Given the description of an element on the screen output the (x, y) to click on. 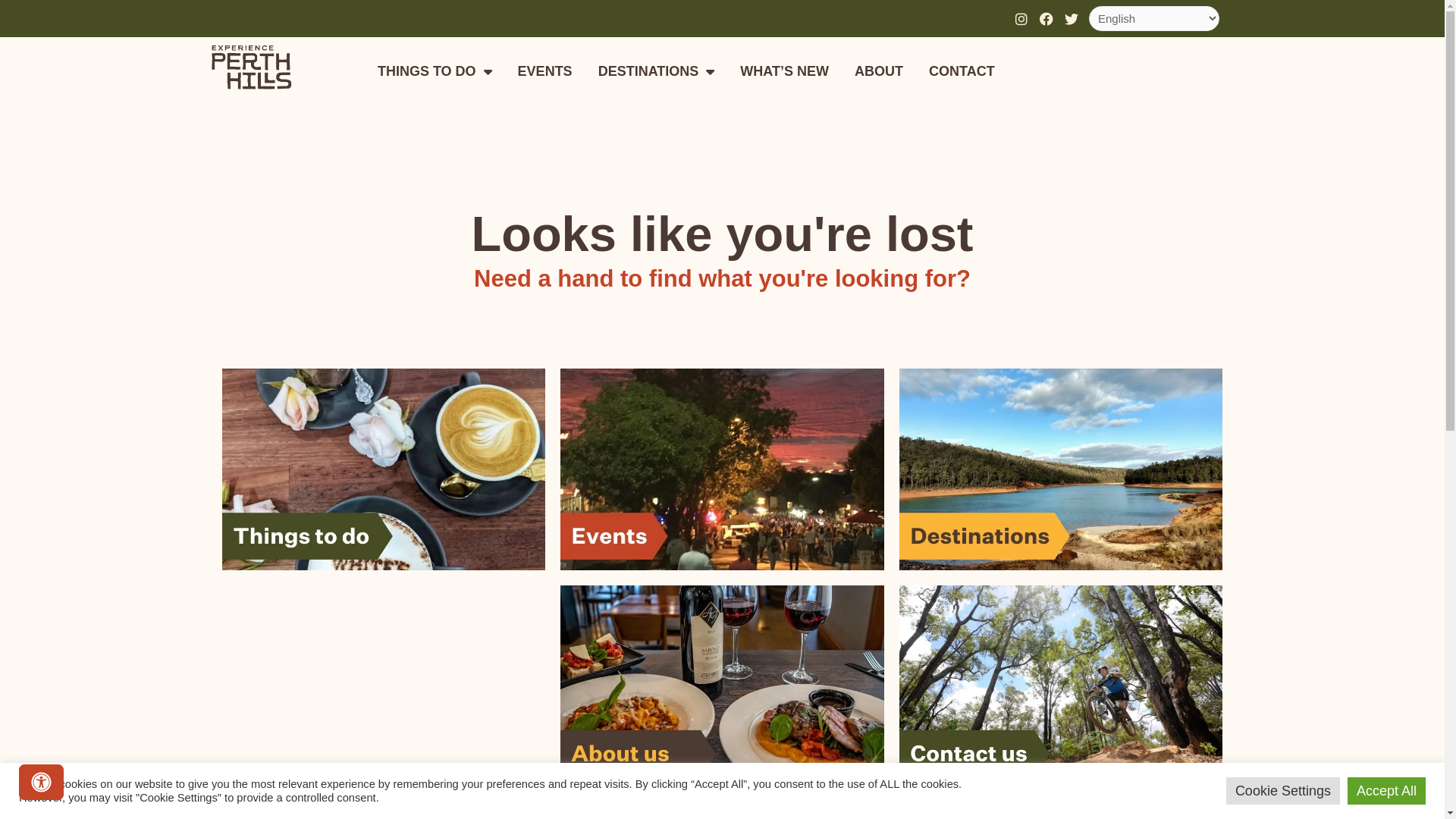
ABOUT Element type: text (878, 70)
Accessibility Element type: hover (40, 782)
CONTACT Element type: text (961, 70)
THINGS TO DO Element type: text (434, 70)
EVENTS Element type: text (545, 70)
Cookie Settings Element type: text (1282, 790)
Accept All Element type: text (1386, 790)
Instagram Element type: text (1021, 17)
DESTINATIONS Element type: text (656, 70)
Twitter Element type: text (1071, 17)
Facebook Element type: text (1046, 17)
